Given the description of an element on the screen output the (x, y) to click on. 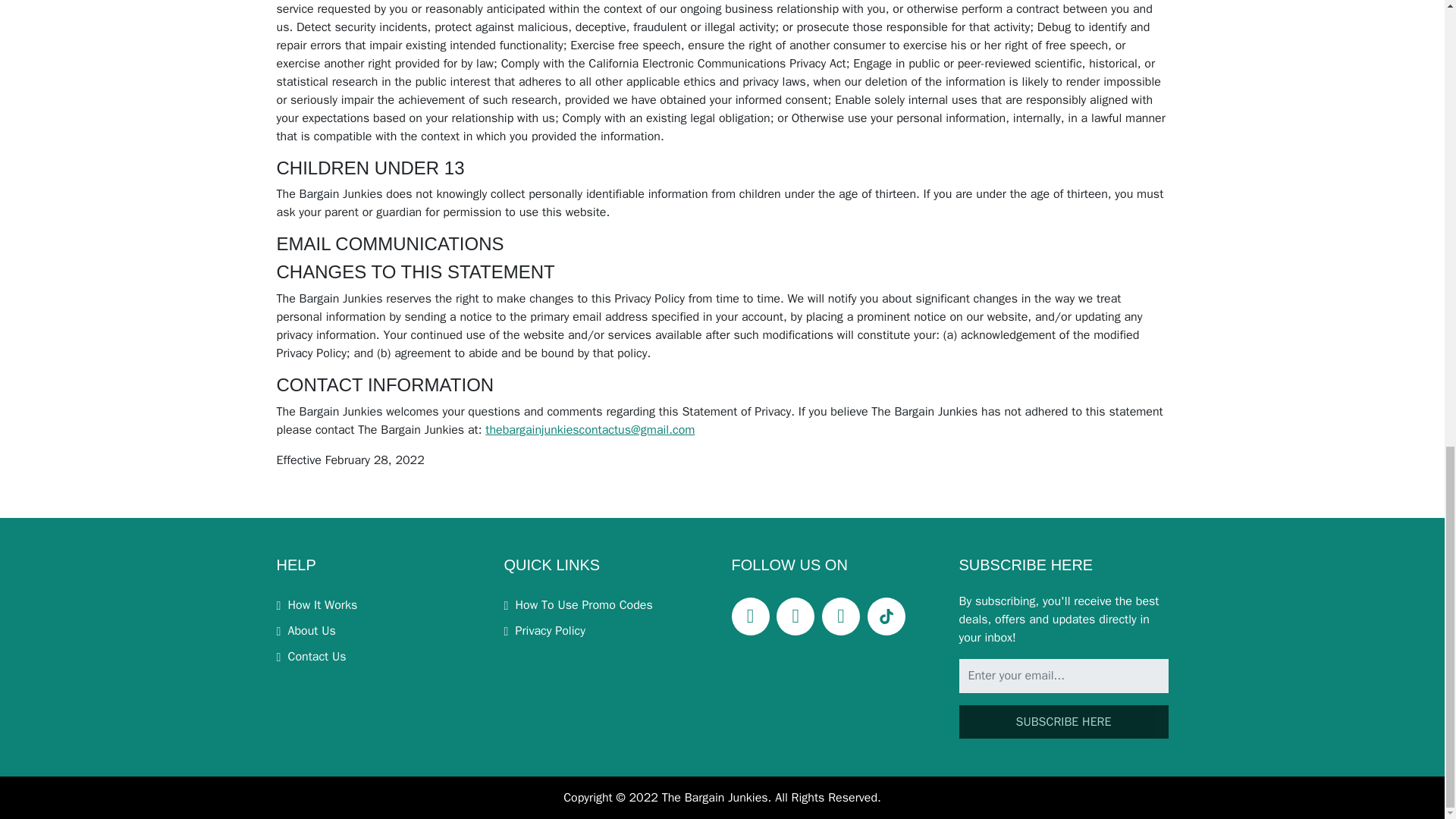
About Us (305, 630)
How It Works (316, 604)
Privacy Policy (544, 630)
How To Use Promo Codes (577, 604)
Contact Us (311, 656)
SUBSCRIBE HERE (1062, 721)
